Given the description of an element on the screen output the (x, y) to click on. 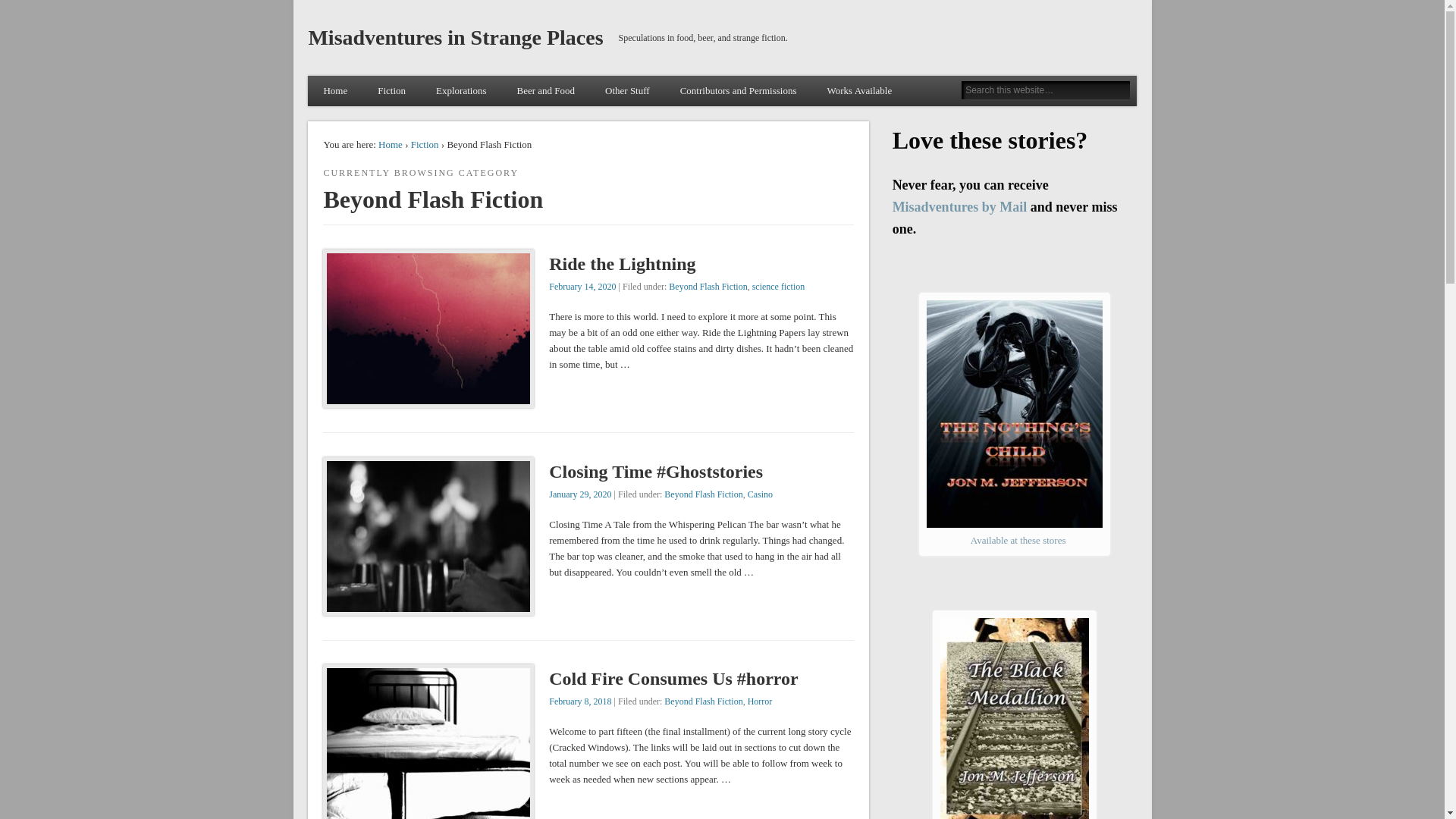
science fiction Element type: text (778, 286)
February 14, 2020 Element type: text (582, 286)
Misadventures by Mail Element type: text (959, 206)
Misadventures in Strange Places Element type: text (454, 37)
Home Element type: text (334, 90)
Other Stuff Element type: text (627, 90)
February 8, 2018 Element type: text (580, 701)
Available at these stores Element type: text (1018, 540)
Search Element type: text (11, 7)
Fiction Element type: text (391, 90)
January 29, 2020 Element type: text (580, 494)
Casino Element type: text (759, 494)
Beer and Food Element type: text (545, 90)
Contributors and Permissions Element type: text (738, 90)
Beyond Flash Fiction Element type: text (703, 494)
Cold Fire Consumes Us #horror Element type: text (673, 678)
Ride the Lightning Element type: text (622, 263)
Fiction Element type: text (425, 144)
Works Available Element type: text (858, 90)
Horror Element type: text (759, 701)
Home Element type: text (390, 144)
Closing Time #Ghoststories Element type: text (655, 471)
Beyond Flash Fiction Element type: text (707, 286)
Explorations Element type: text (460, 90)
Beyond Flash Fiction Element type: text (703, 701)
